Given the description of an element on the screen output the (x, y) to click on. 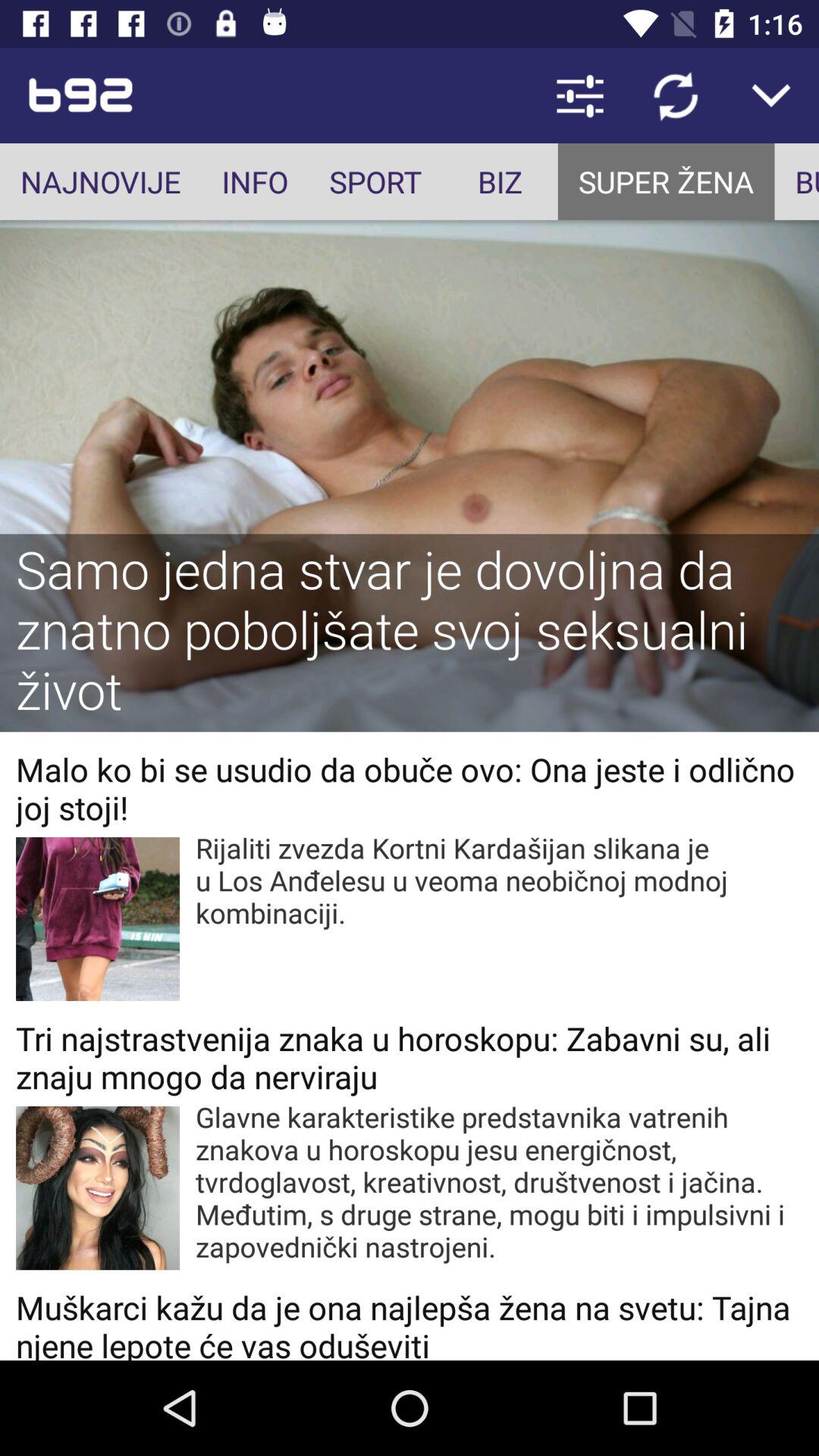
click app next to sport (499, 181)
